Given the description of an element on the screen output the (x, y) to click on. 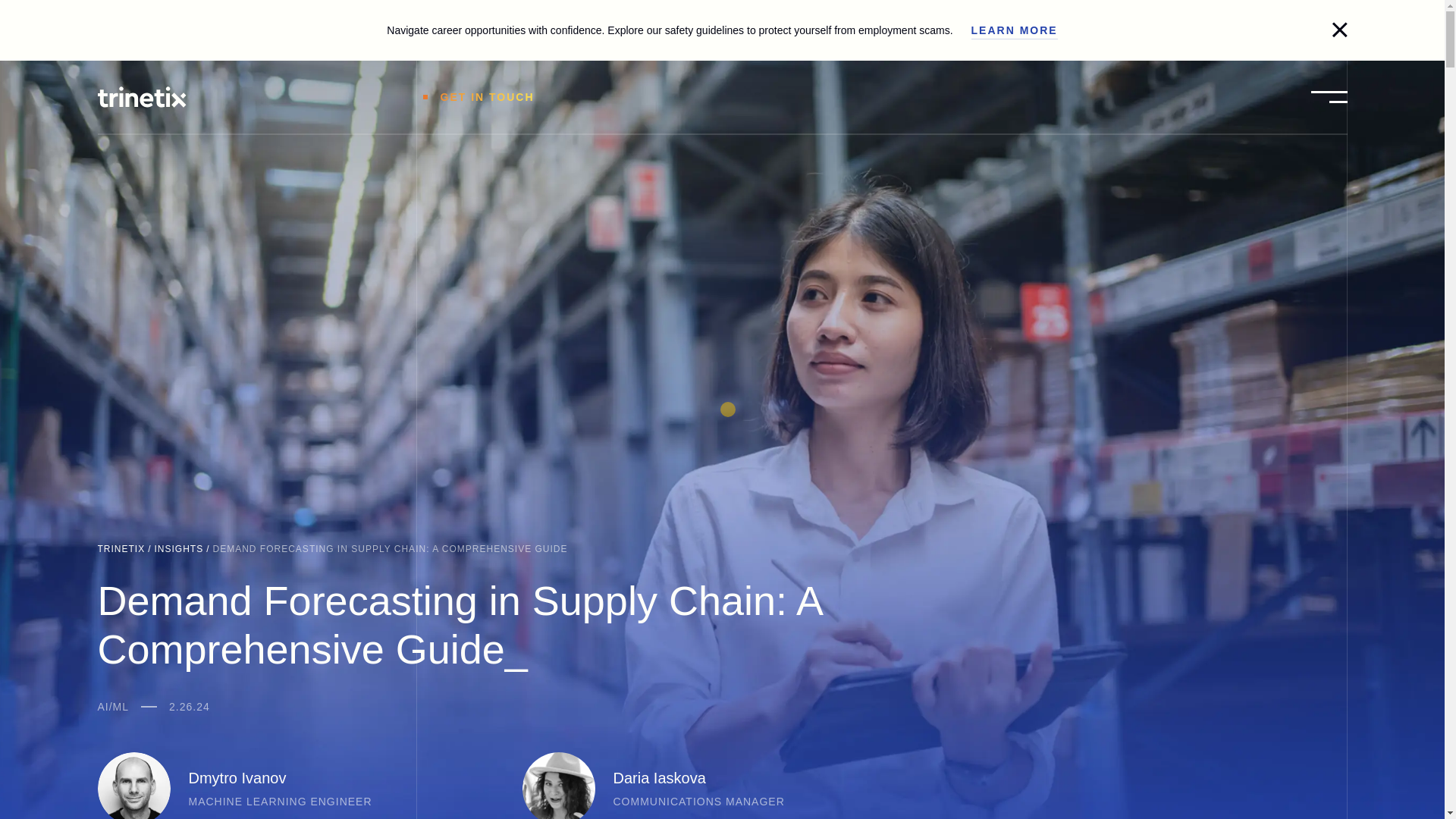
INSIGHTS (178, 548)
GET IN TOUCH (474, 96)
TRINETIX (120, 548)
LEARN MORE (1014, 30)
